Given the description of an element on the screen output the (x, y) to click on. 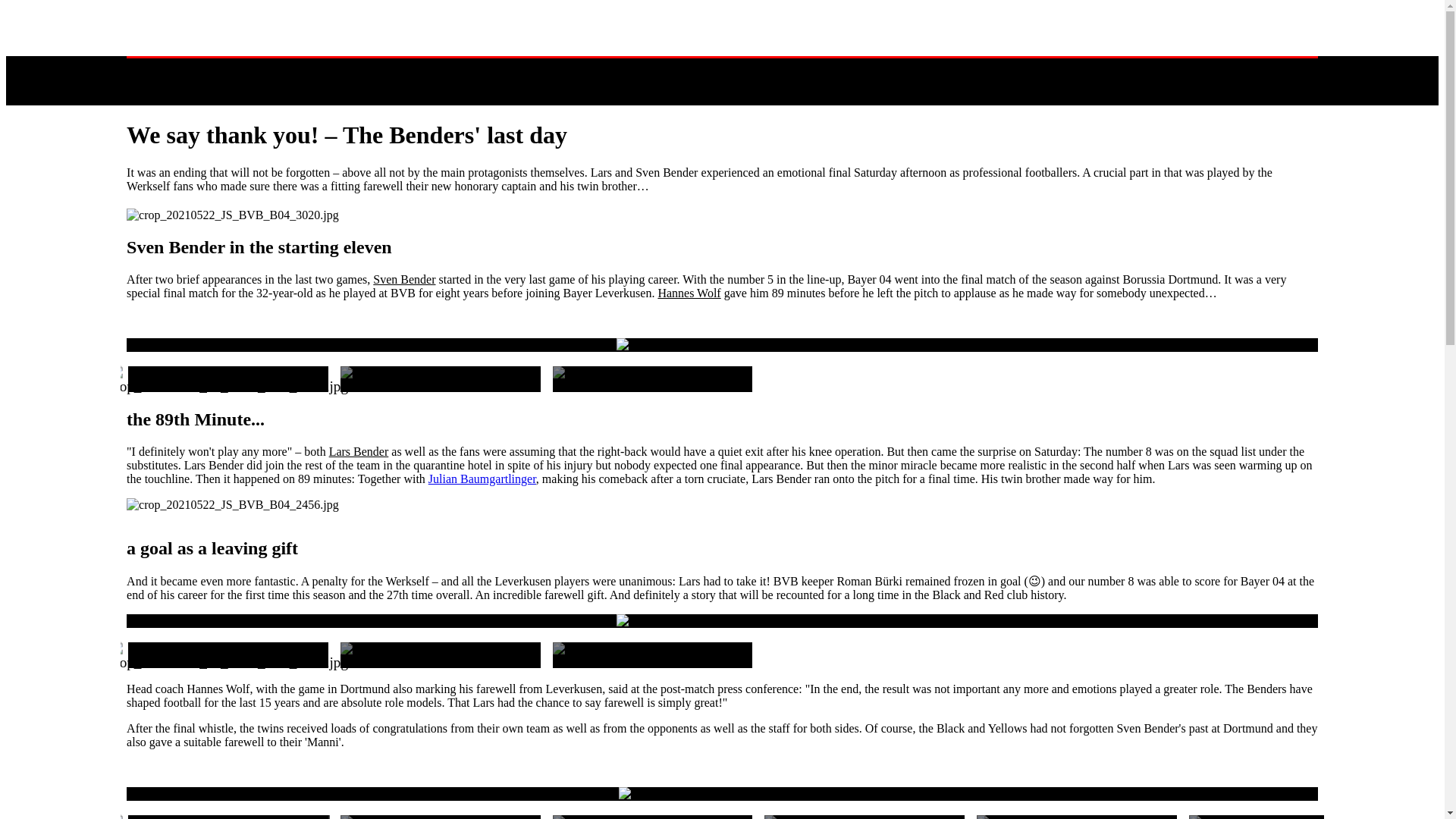
Back (144, 65)
Julian Baumgartlinger (481, 477)
Share (256, 89)
Julian Baumgartlinger (481, 477)
